Given the description of an element on the screen output the (x, y) to click on. 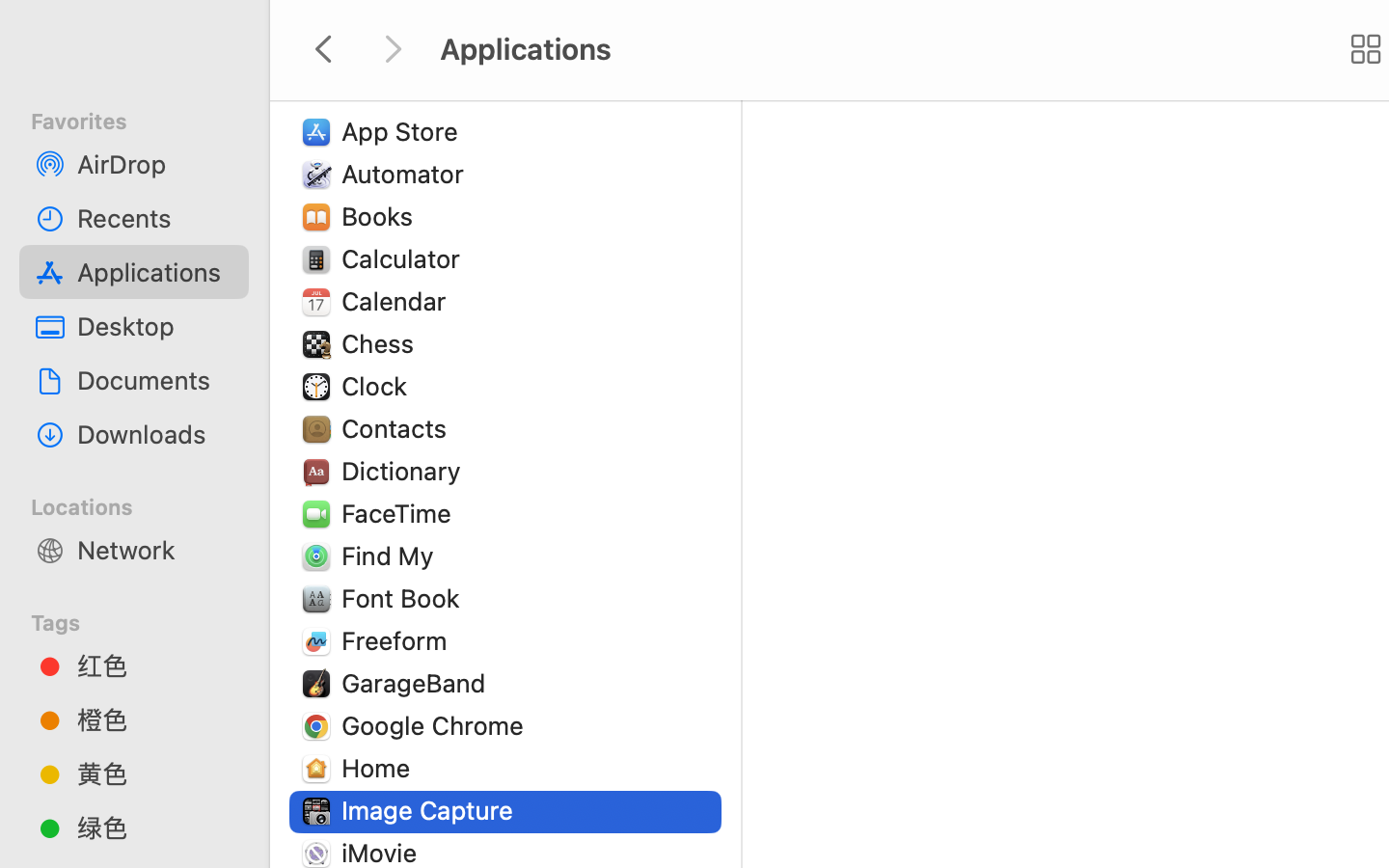
Find My Element type: AXTextField (391, 555)
Locations Element type: AXStaticText (145, 504)
黄色 Element type: AXStaticText (155, 773)
Freeform Element type: AXTextField (398, 639)
Dictionary Element type: AXTextField (404, 470)
